Given the description of an element on the screen output the (x, y) to click on. 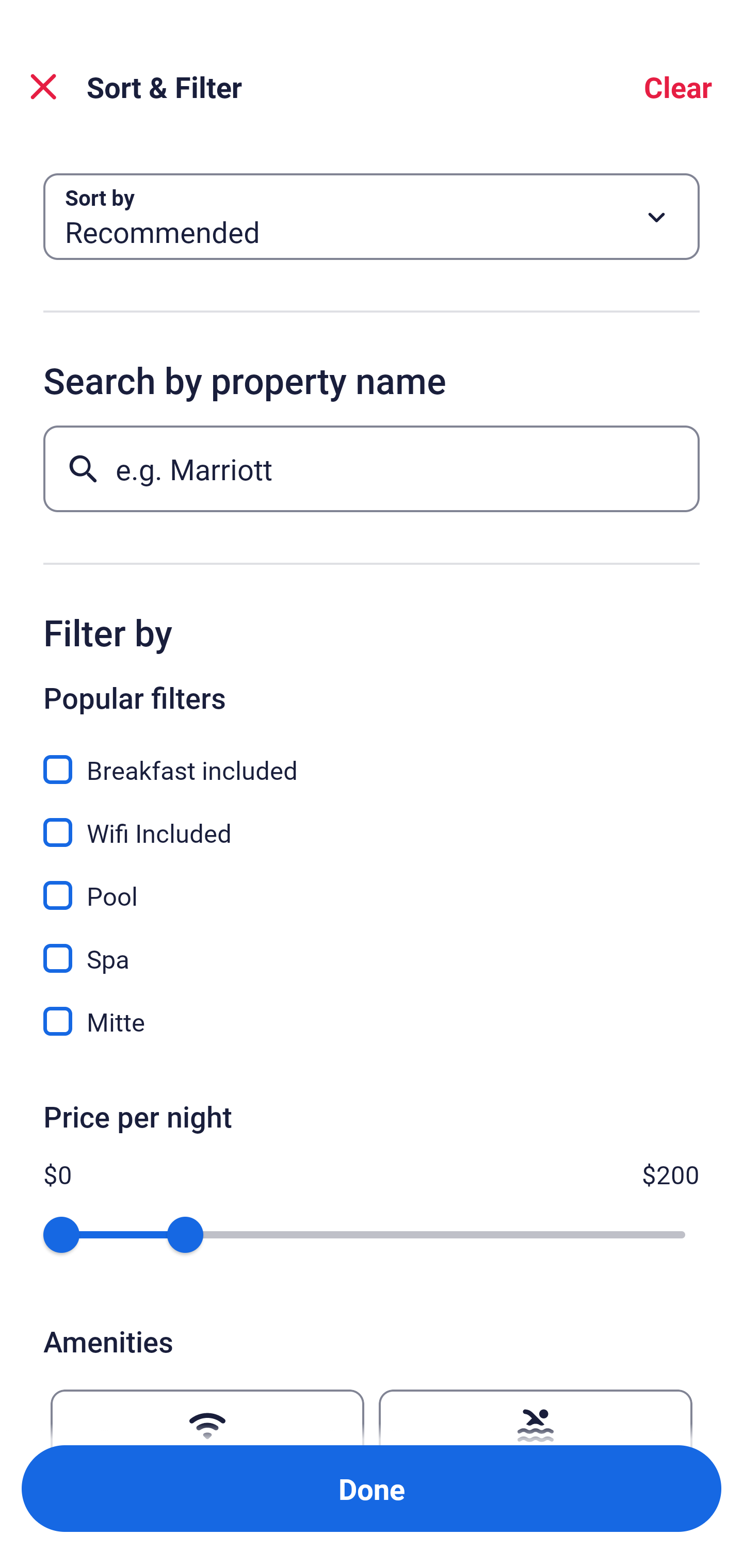
Close Sort and Filter (43, 86)
Clear (677, 86)
Sort by Button Recommended (371, 217)
e.g. Marriott Button (371, 468)
Breakfast included, Breakfast included (371, 757)
Wifi Included, Wifi Included (371, 821)
Pool, Pool (371, 883)
Spa, Spa (371, 946)
Mitte, Mitte (371, 1021)
Apply and close Sort and Filter Done (371, 1488)
